Given the description of an element on the screen output the (x, y) to click on. 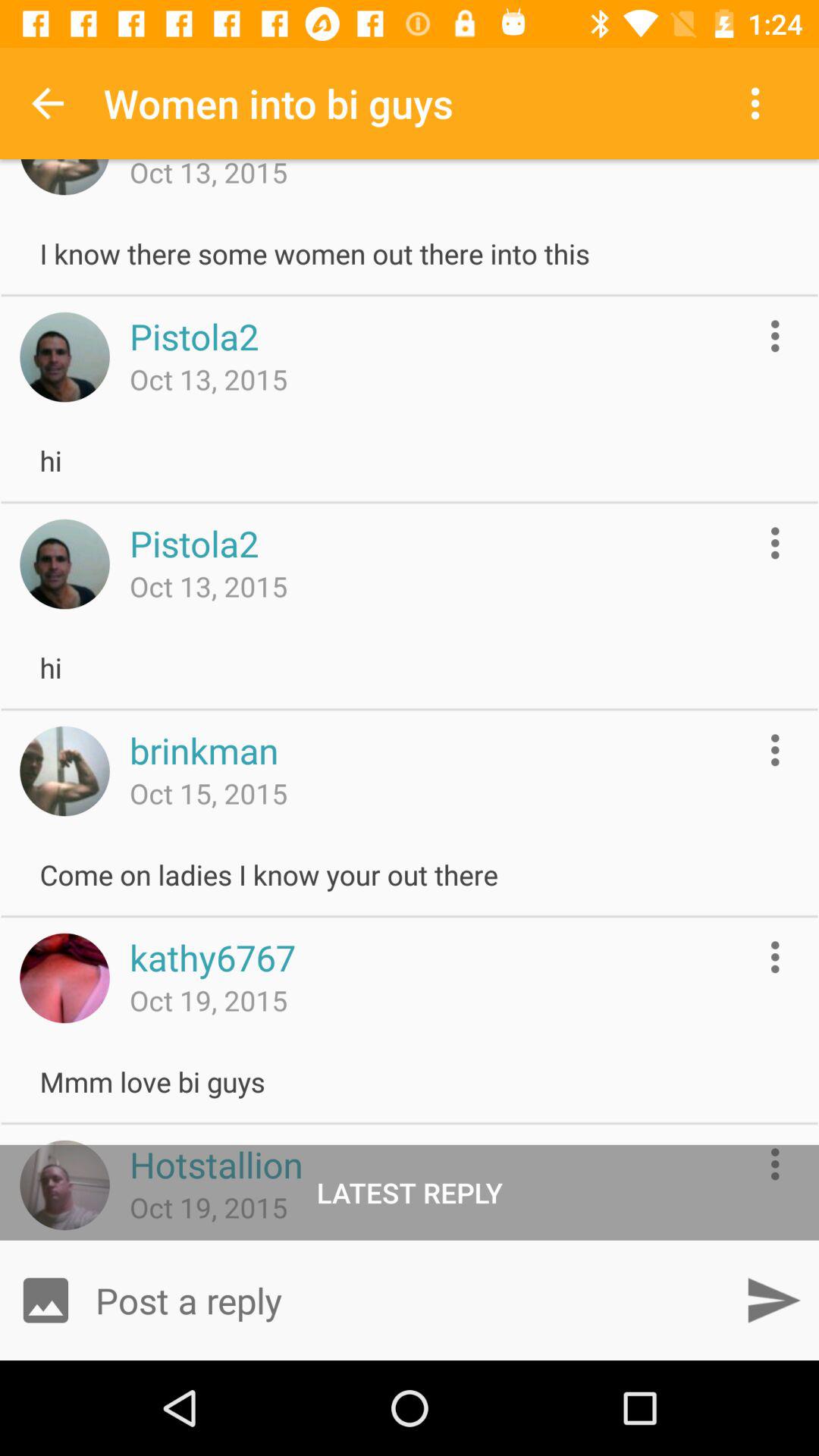
open gallery (45, 1300)
